Given the description of an element on the screen output the (x, y) to click on. 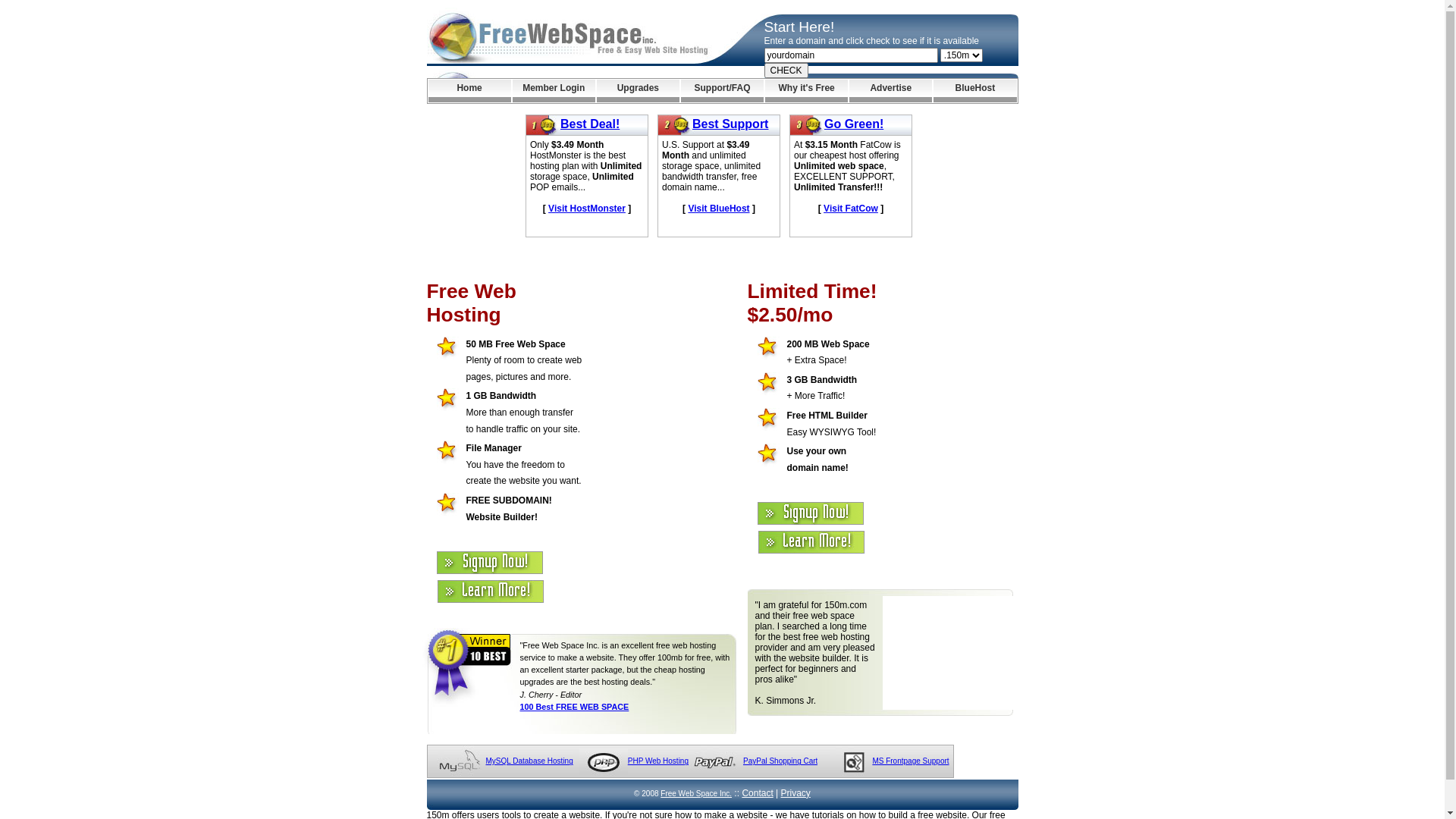
BlueHost Element type: text (974, 90)
Upgrades Element type: text (637, 90)
Privacy Element type: text (795, 792)
PHP Web Hosting Element type: text (657, 760)
Member Login Element type: text (553, 90)
100 Best FREE WEB SPACE Element type: text (574, 706)
MySQL Database Hosting Element type: text (528, 760)
Advertise Element type: text (890, 90)
CHECK Element type: text (786, 70)
PayPal Shopping Cart Element type: text (780, 760)
Contact Element type: text (756, 792)
Free Web Space Inc. Element type: text (695, 793)
MS Frontpage Support Element type: text (910, 760)
Home Element type: text (468, 90)
Why it's Free Element type: text (806, 90)
Support/FAQ Element type: text (721, 90)
